Given the description of an element on the screen output the (x, y) to click on. 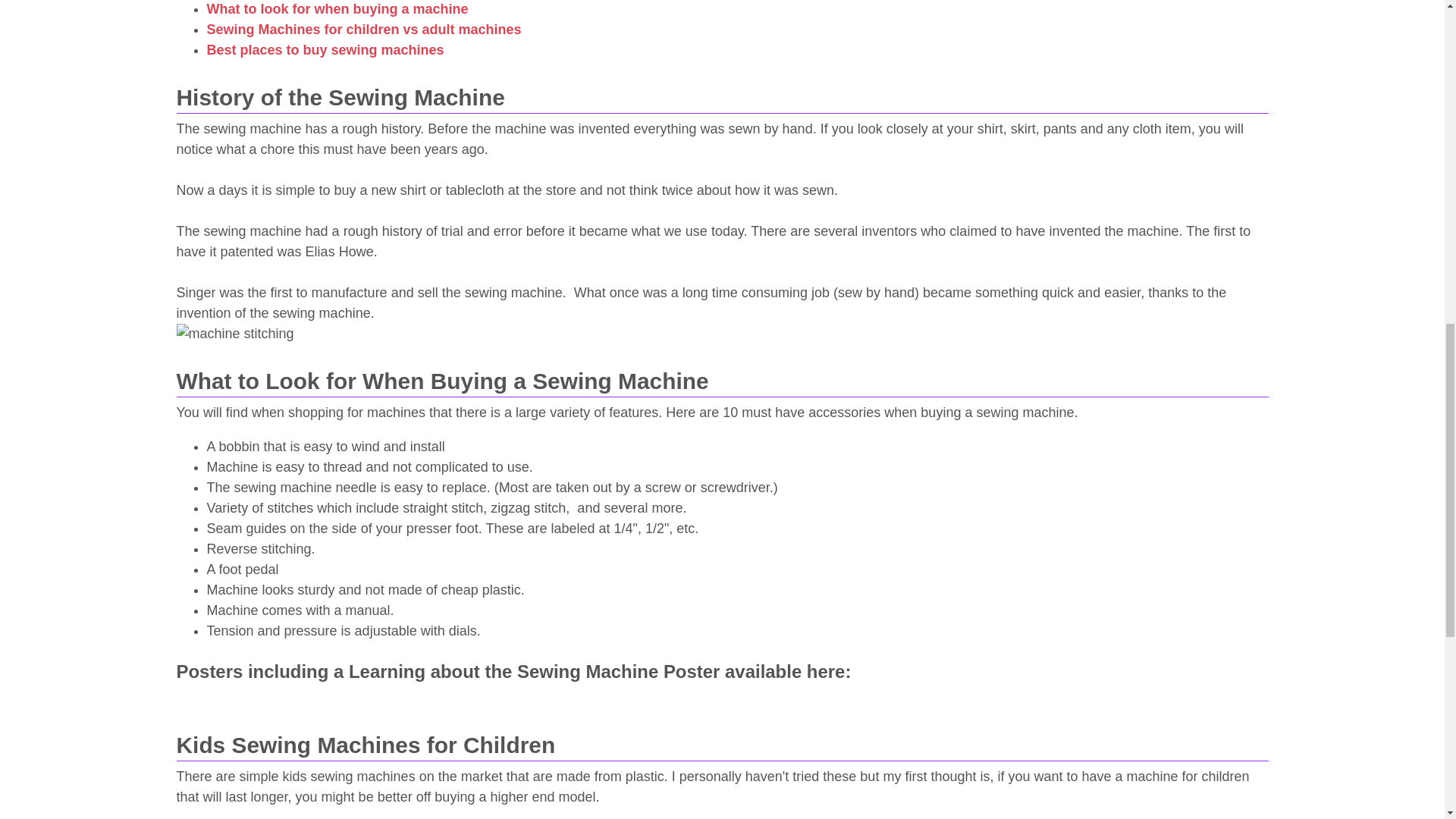
Sewing Machines for children vs adult machines (363, 29)
Best places to buy sewing machines (325, 49)
What to look for when buying a machine (336, 8)
